Given the description of an element on the screen output the (x, y) to click on. 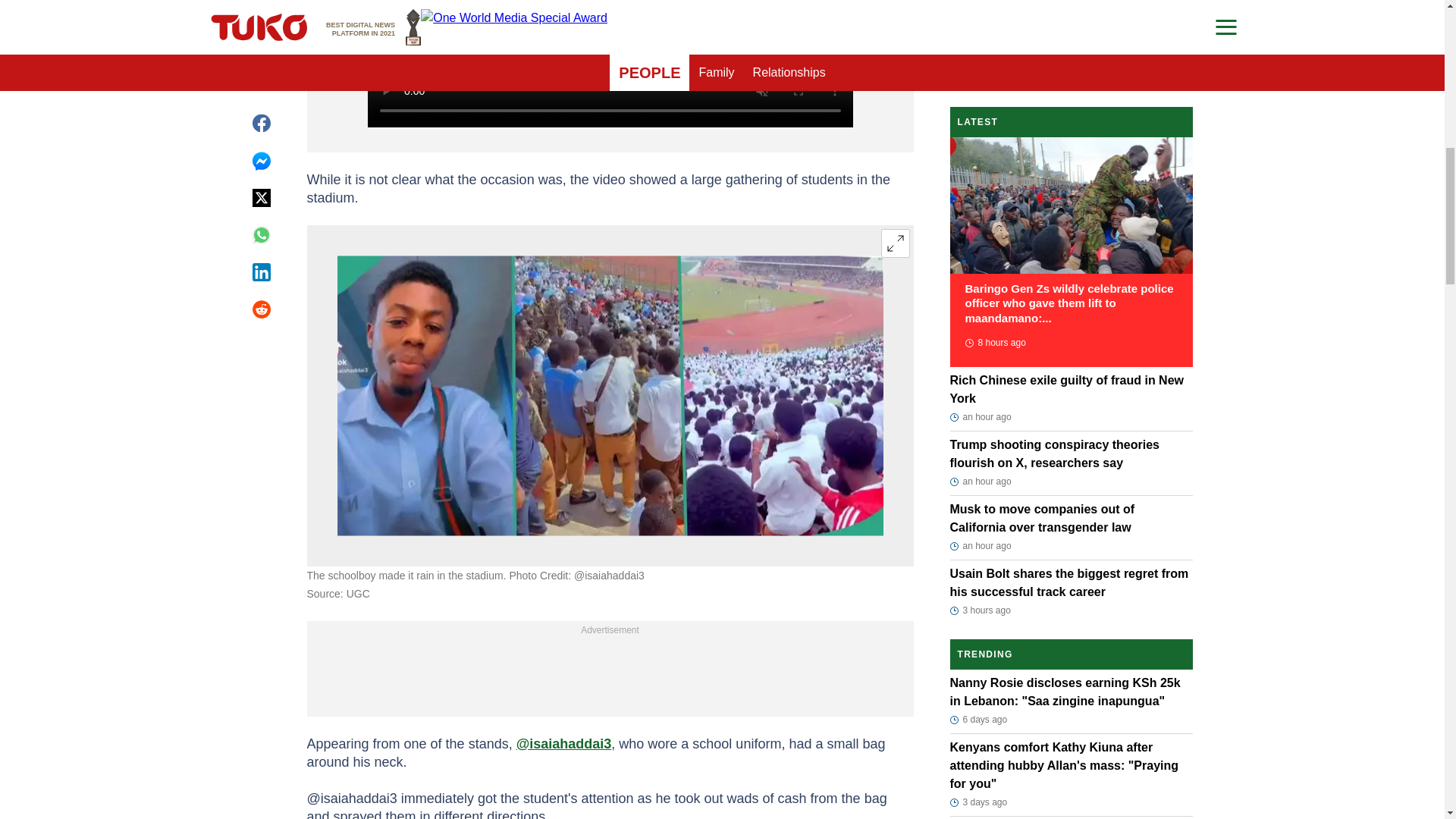
Expand image (895, 243)
